Given the description of an element on the screen output the (x, y) to click on. 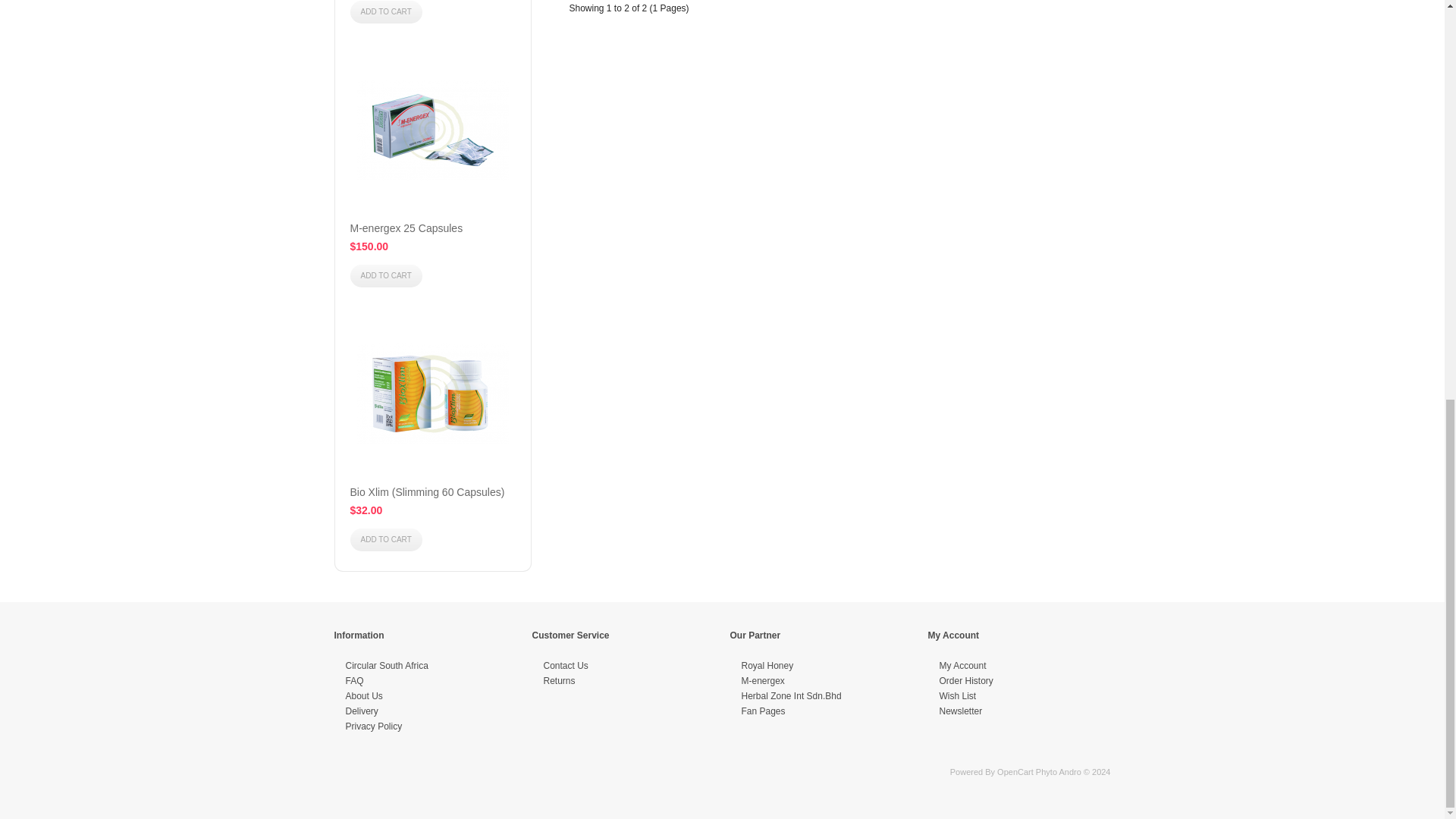
ADD TO CART (386, 539)
ADD TO CART (386, 275)
M-energex 25 Capsules (406, 227)
ADD TO CART (386, 11)
